Given the description of an element on the screen output the (x, y) to click on. 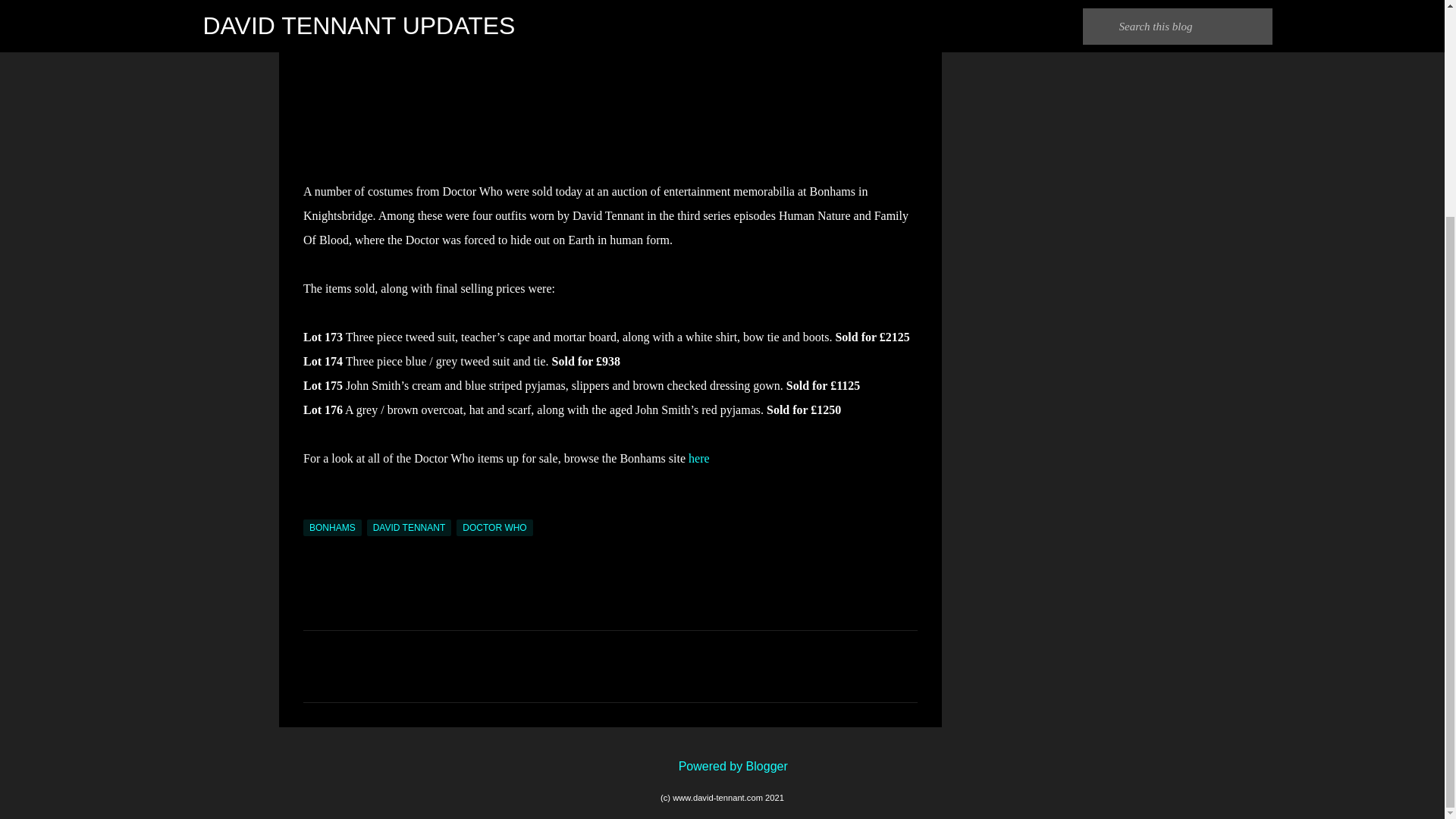
BONHAMS (331, 527)
DAVID TENNANT (408, 527)
Email Post (311, 510)
here (699, 458)
DOCTOR WHO (494, 527)
Powered by Blogger (721, 766)
